Given the description of an element on the screen output the (x, y) to click on. 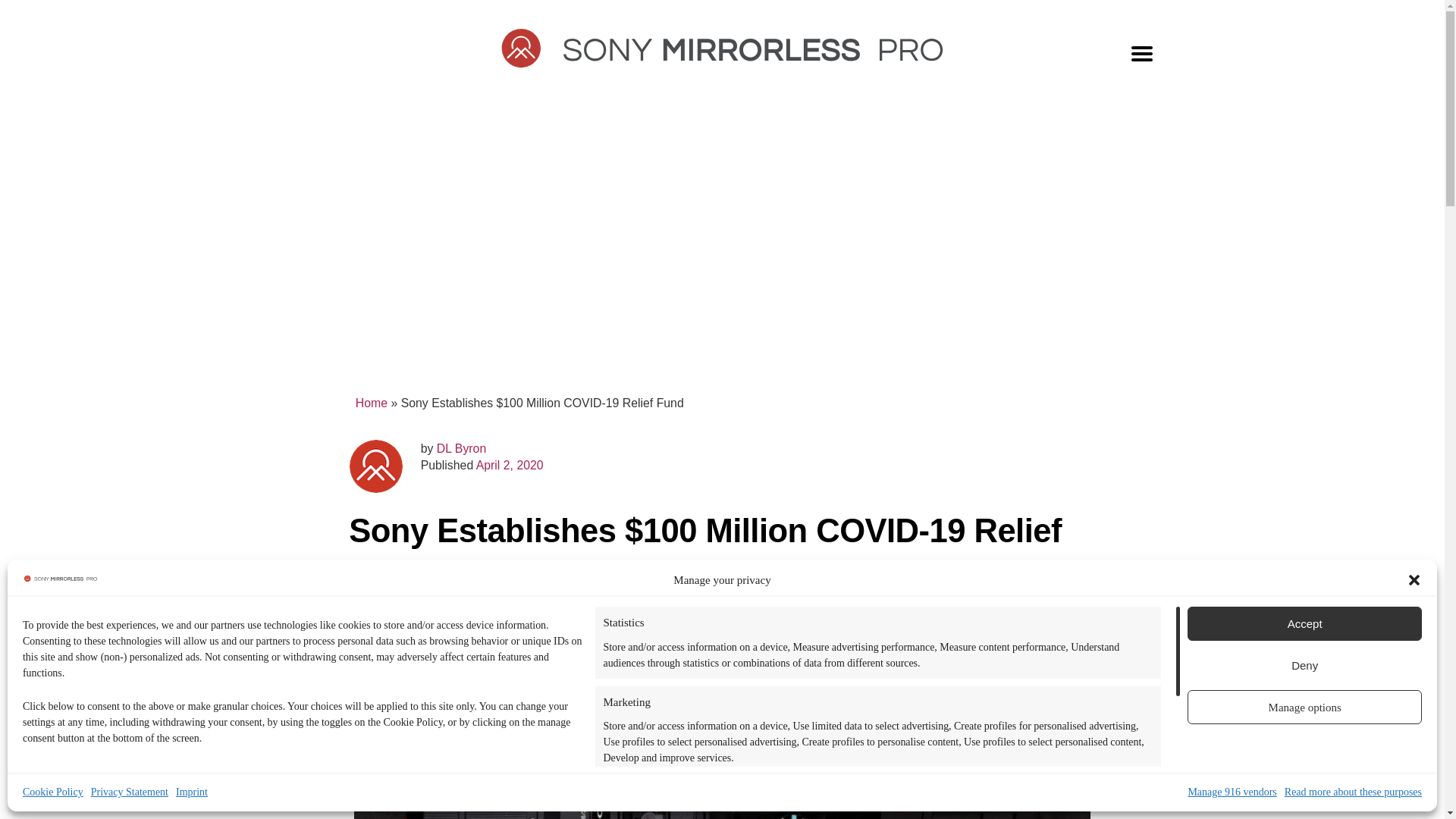
Deny (1305, 665)
Privacy Statement (129, 791)
Read more about these purposes (1353, 791)
Manage 916 vendors (1232, 791)
Accept (1305, 623)
MENU (1141, 54)
Imprint (192, 791)
Manage options (1305, 706)
Cookie Policy (52, 791)
